Given the description of an element on the screen output the (x, y) to click on. 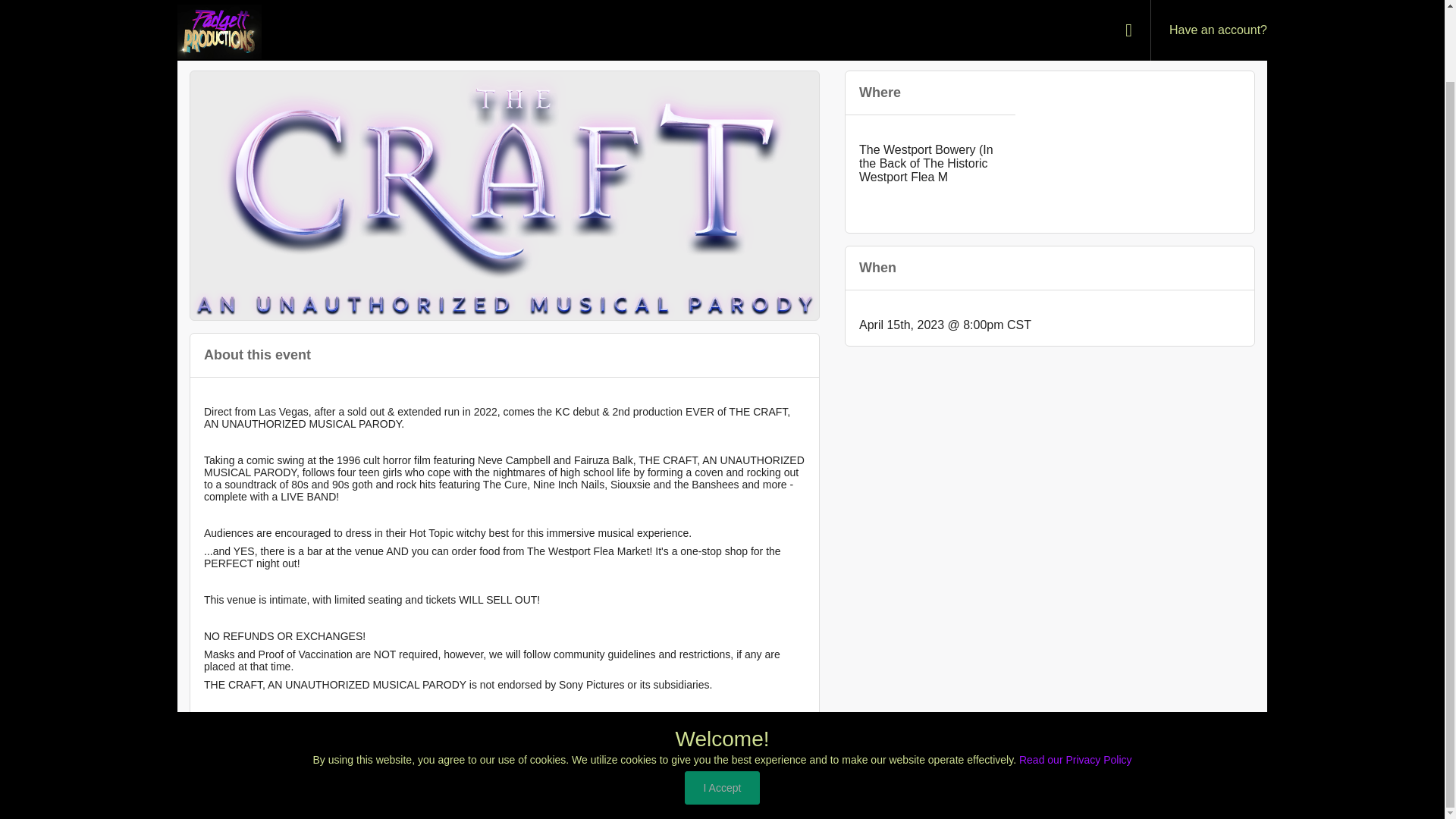
I Accept (722, 707)
Refunds (1246, 794)
Not on Sale (1183, 28)
Home (1003, 794)
Read our Privacy Policy (1075, 680)
